Given the description of an element on the screen output the (x, y) to click on. 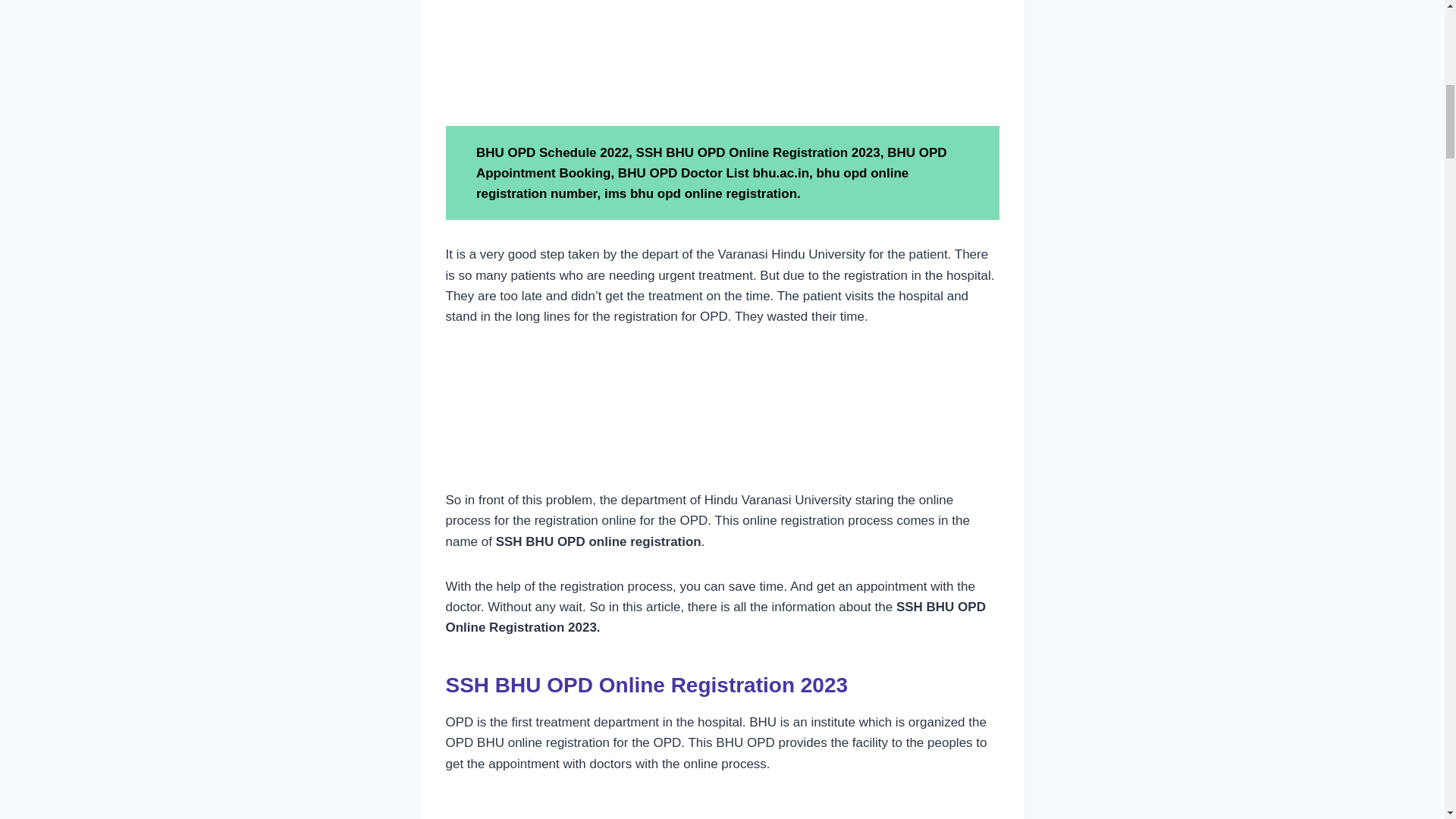
Advertisement (721, 416)
Advertisement (721, 58)
Advertisement (721, 808)
